Given the description of an element on the screen output the (x, y) to click on. 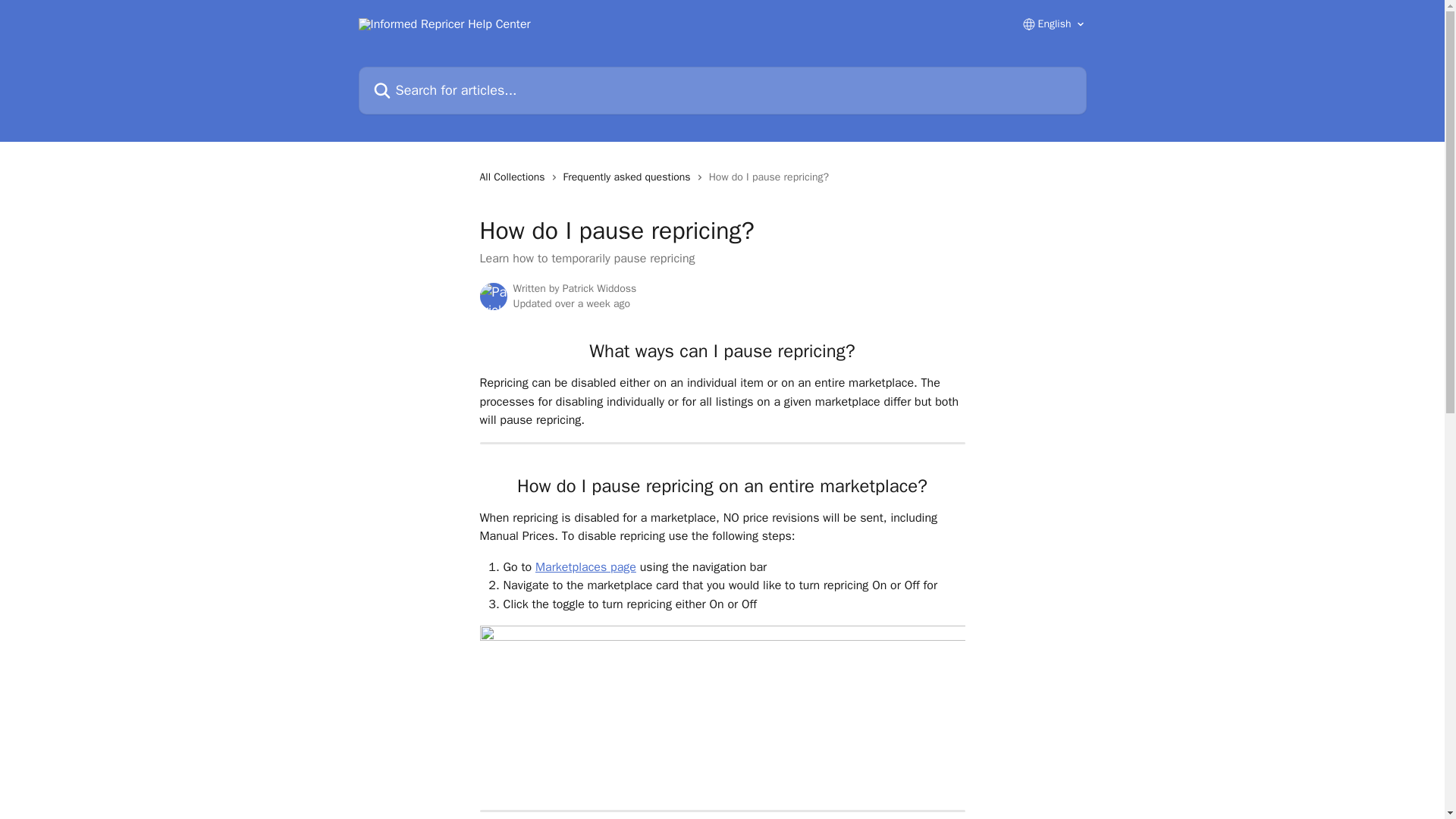
Marketplaces page (585, 566)
Frequently asked questions (630, 176)
All Collections (514, 176)
